Given the description of an element on the screen output the (x, y) to click on. 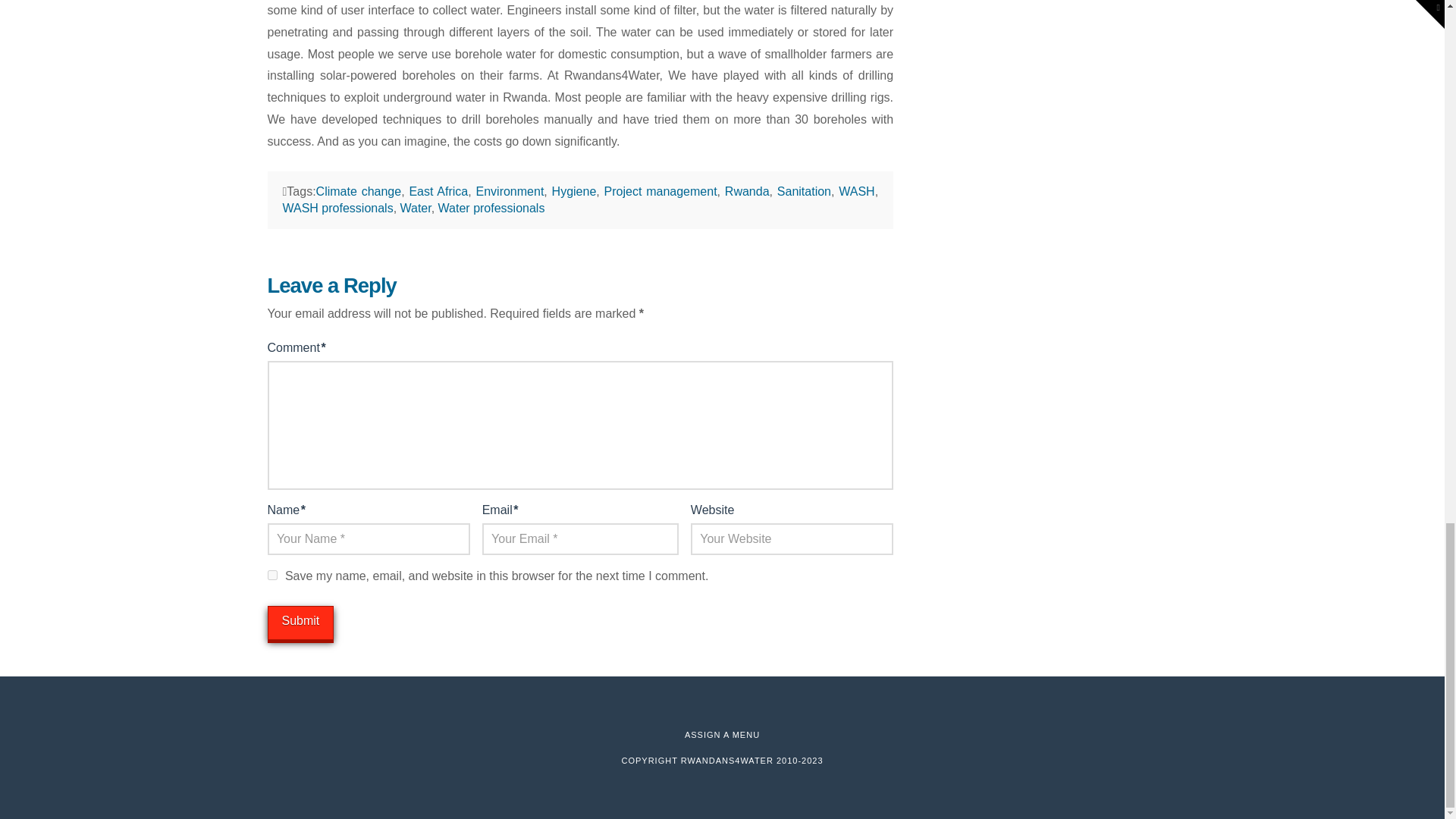
WASH professionals (337, 207)
Environment (510, 191)
Sanitation (804, 191)
Water professionals (491, 207)
Water (415, 207)
Submit (299, 622)
East Africa (438, 191)
Submit (299, 622)
Rwanda (747, 191)
Project management (660, 191)
